Given the description of an element on the screen output the (x, y) to click on. 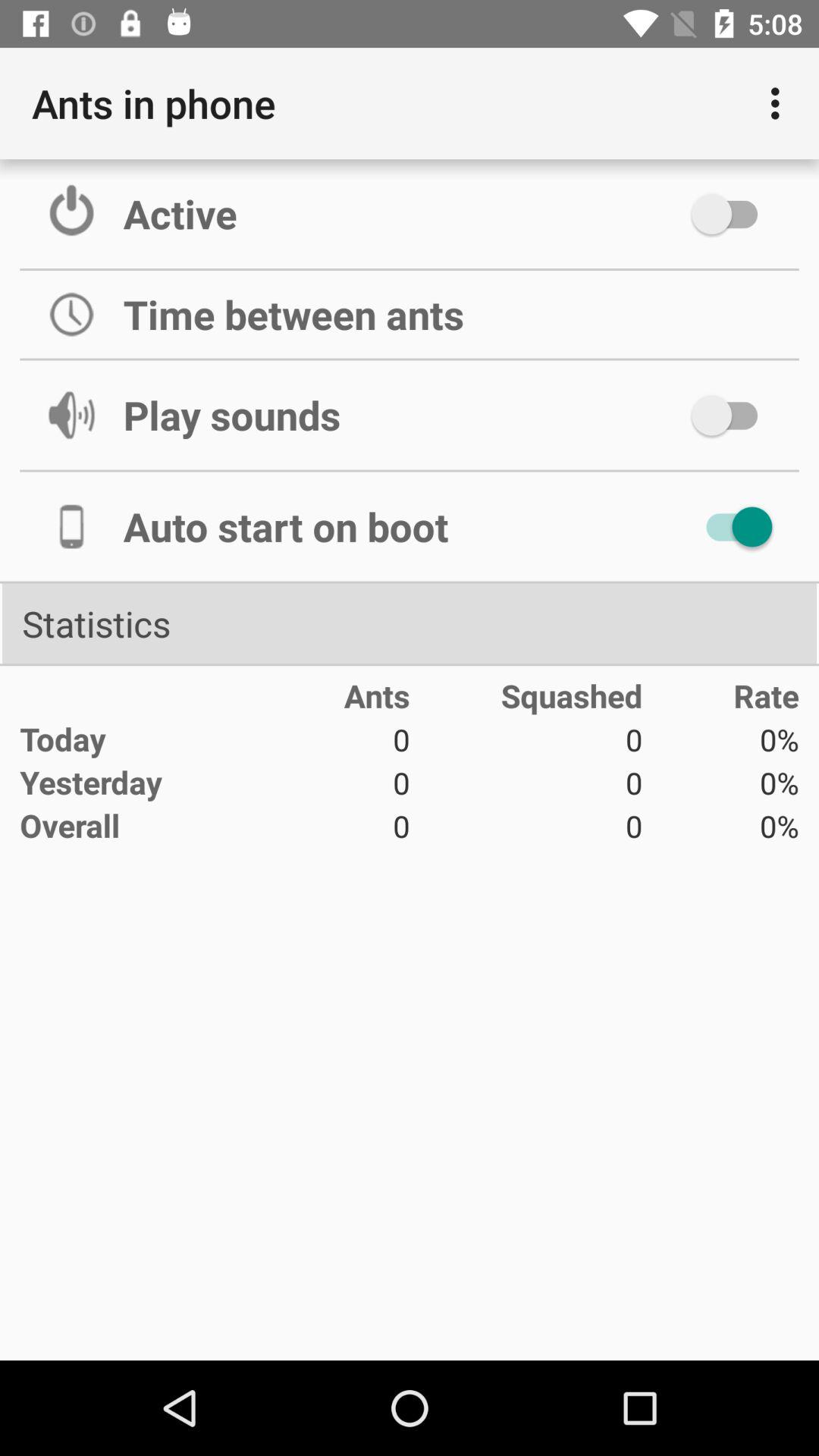
launch app next to ants in phone item (779, 103)
